Given the description of an element on the screen output the (x, y) to click on. 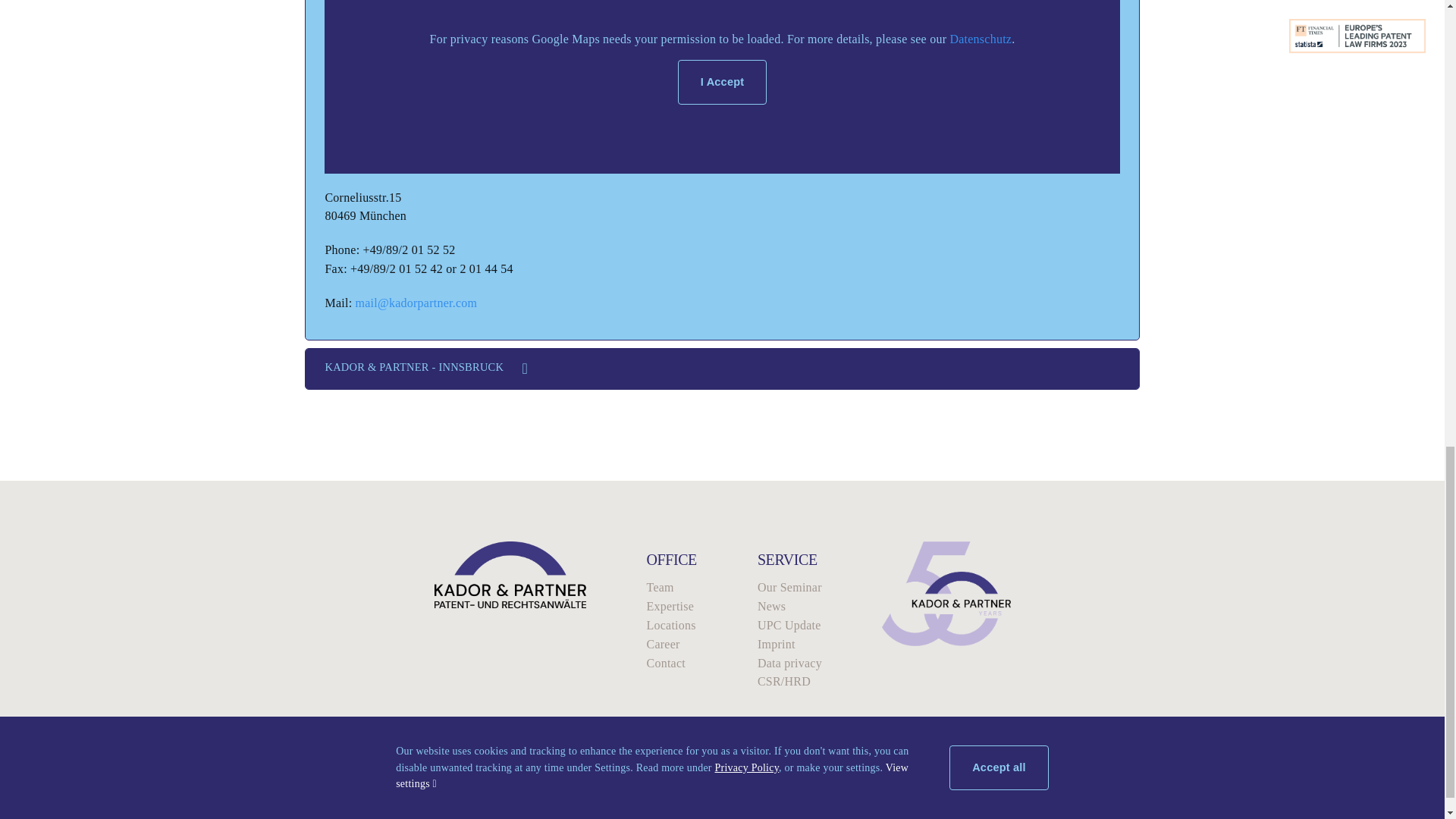
Datenschutz (980, 38)
I Accept (722, 81)
